Given the description of an element on the screen output the (x, y) to click on. 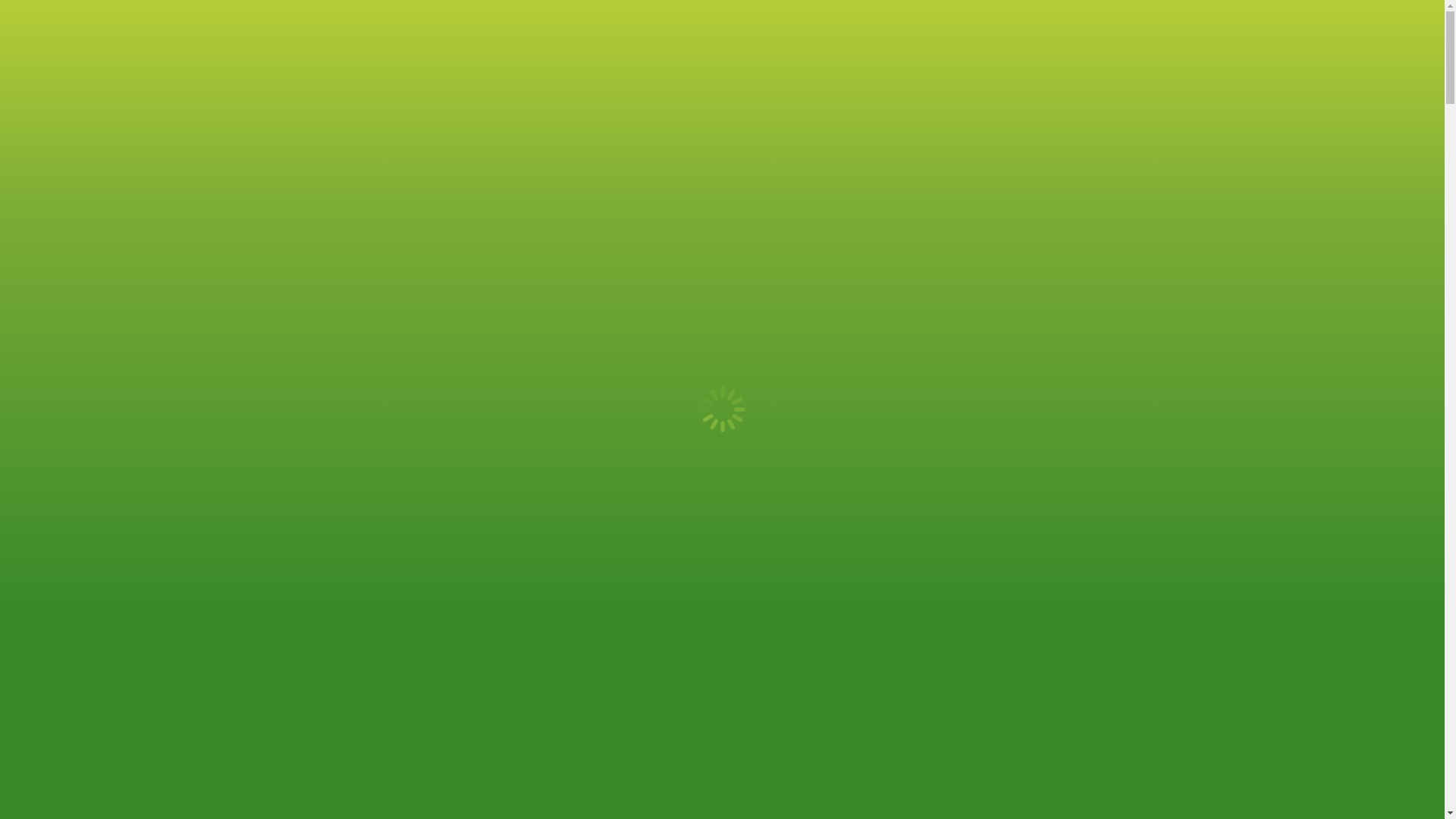
Facebook page opens in new window (1091, 20)
5:25 pm (853, 360)
Featured (470, 19)
Instagram page opens in new window (1117, 20)
Linkedin page opens in new window (1143, 20)
Instagram page opens in new window (1117, 20)
Products On Sale (1117, 96)
Favourites (391, 19)
My account (305, 19)
1800 681 544 (1018, 20)
